Given the description of an element on the screen output the (x, y) to click on. 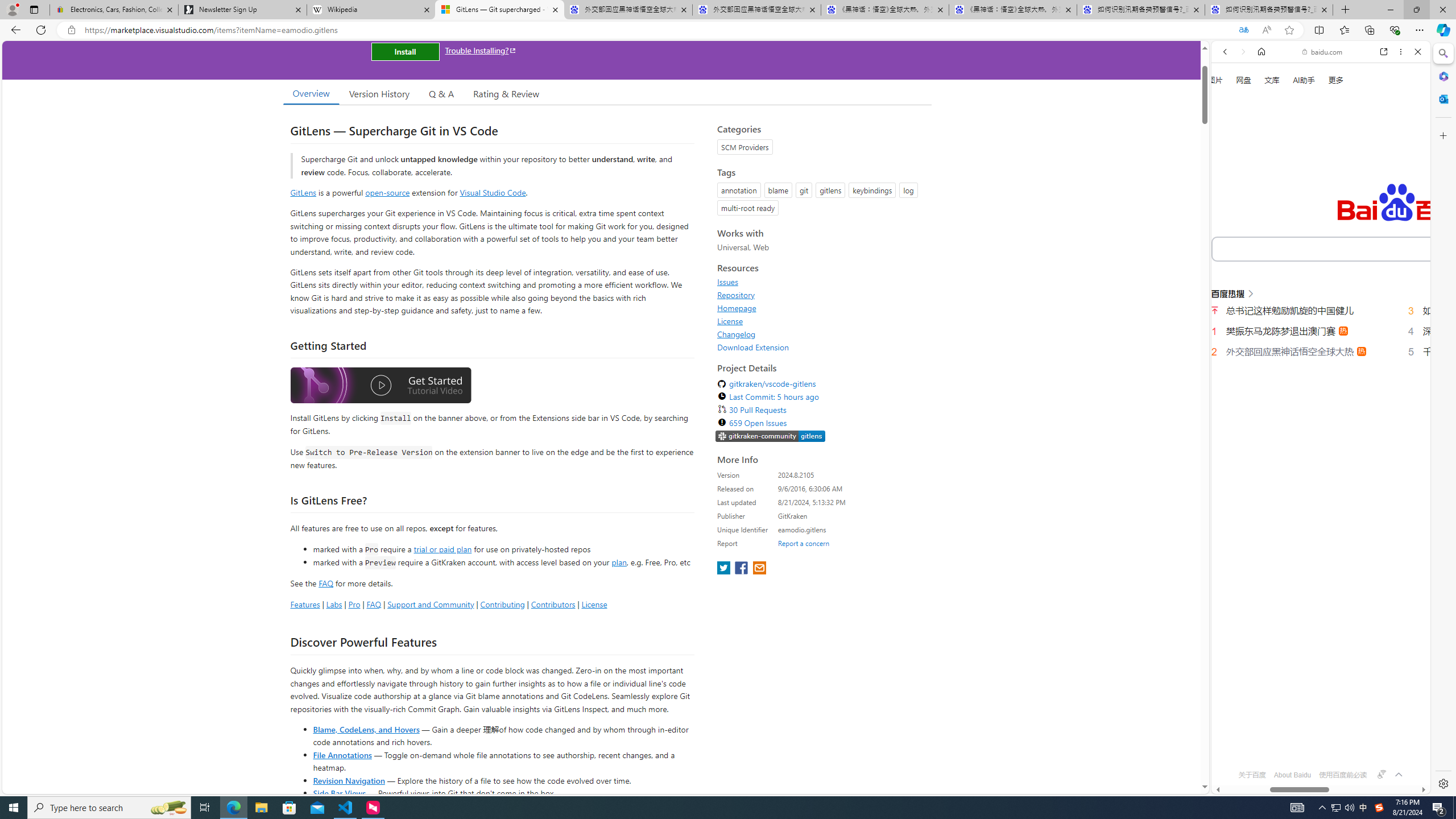
Electronics, Cars, Fashion, Collectibles & More | eBay (114, 9)
Actions for this site (1381, 514)
Global web icon (1232, 743)
English (US) (1320, 329)
This site scope (1259, 102)
Report a concern (803, 542)
